Given the description of an element on the screen output the (x, y) to click on. 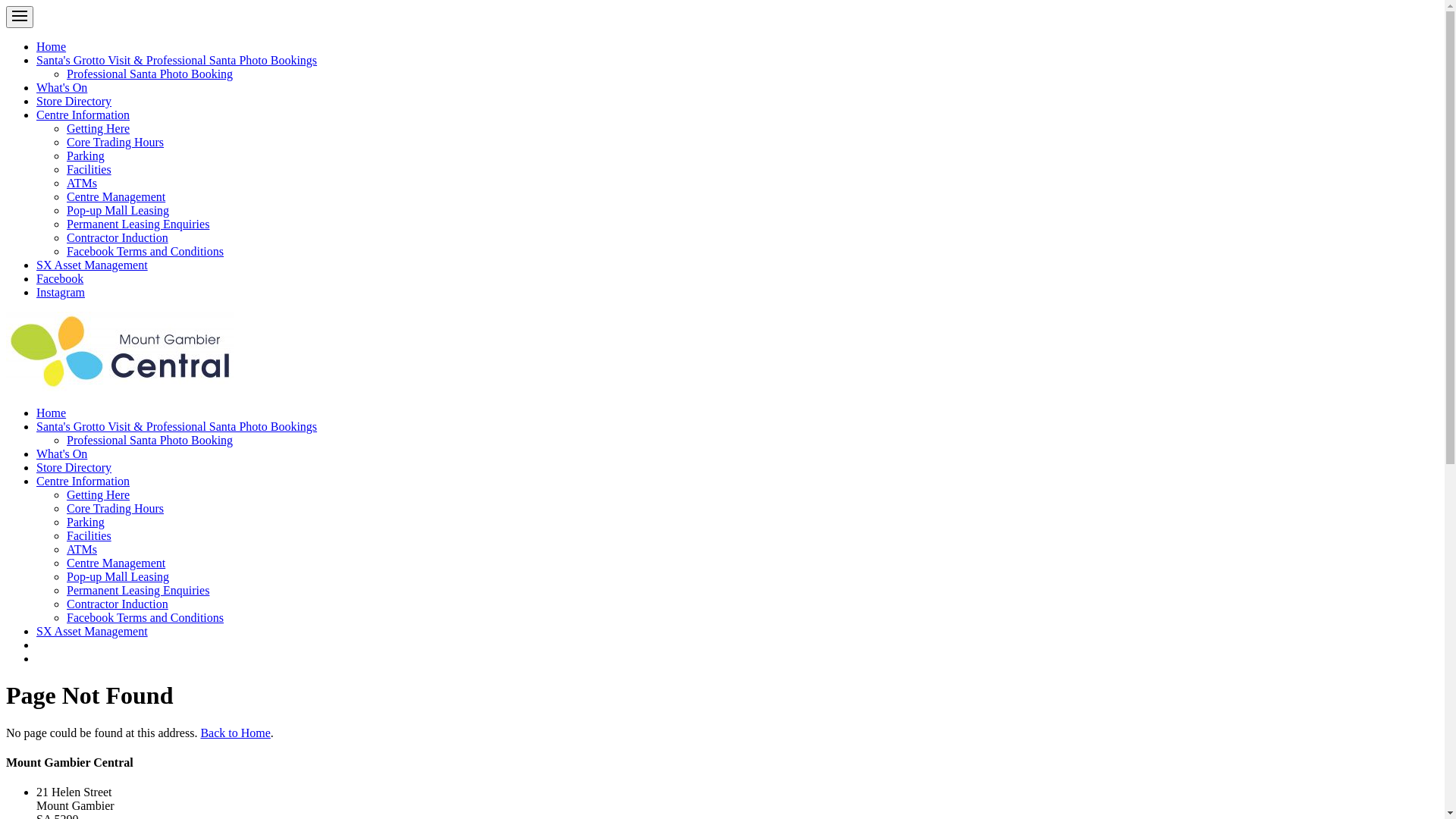
Core Trading Hours Element type: text (114, 508)
Core Trading Hours Element type: text (114, 141)
SX Asset Management Element type: text (91, 630)
Getting Here Element type: text (97, 494)
Facilities Element type: text (88, 535)
Facebook Element type: text (59, 278)
Parking Element type: text (85, 155)
Contractor Induction Element type: text (117, 603)
Professional Santa Photo Booking Element type: text (149, 73)
Facilities Element type: text (88, 169)
ATMs Element type: text (81, 548)
Back to Home Element type: text (234, 732)
Facebook Terms and Conditions Element type: text (144, 250)
Store Directory Element type: text (73, 100)
What's On Element type: text (61, 453)
ATMs Element type: text (81, 182)
Home Element type: text (50, 46)
Parking Element type: text (85, 521)
Centre Information Element type: text (82, 480)
Centre Management Element type: text (115, 562)
Professional Santa Photo Booking Element type: text (149, 439)
Santa's Grotto Visit & Professional Santa Photo Bookings Element type: text (176, 59)
Permanent Leasing Enquiries Element type: text (137, 223)
Pop-up Mall Leasing Element type: text (117, 576)
Pop-up Mall Leasing Element type: text (117, 209)
Instagram Element type: text (60, 291)
Home Element type: text (50, 412)
Santa's Grotto Visit & Professional Santa Photo Bookings Element type: text (176, 426)
Mount Gambier Central Element type: hover (119, 351)
Facebook Terms and Conditions Element type: text (144, 617)
Centre Information Element type: text (82, 114)
Centre Management Element type: text (115, 196)
Getting Here Element type: text (97, 128)
SX Asset Management Element type: text (91, 264)
Store Directory Element type: text (73, 467)
Contractor Induction Element type: text (117, 237)
What's On Element type: text (61, 87)
Permanent Leasing Enquiries Element type: text (137, 589)
